Given the description of an element on the screen output the (x, y) to click on. 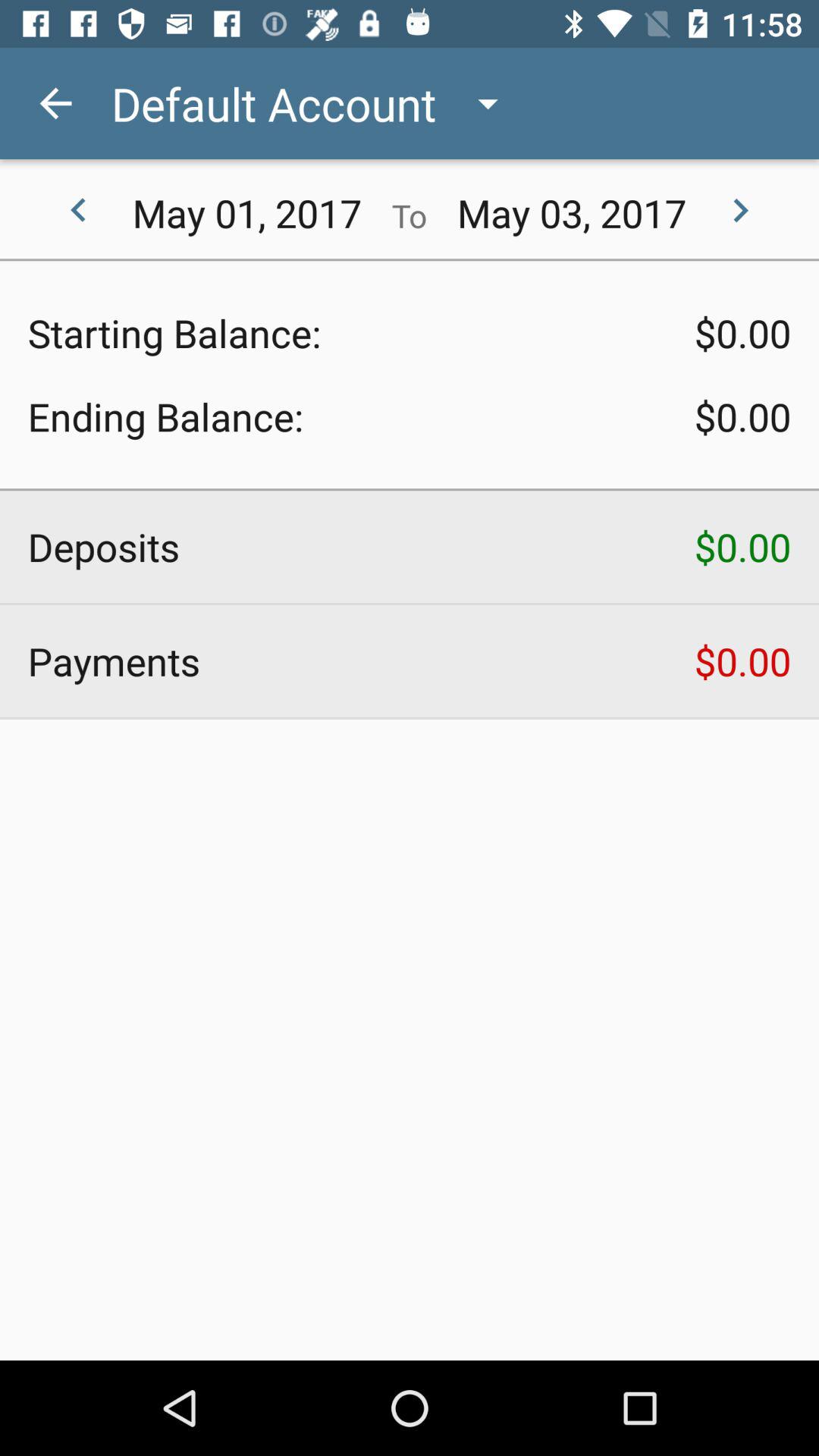
press the item next to default account (55, 103)
